Given the description of an element on the screen output the (x, y) to click on. 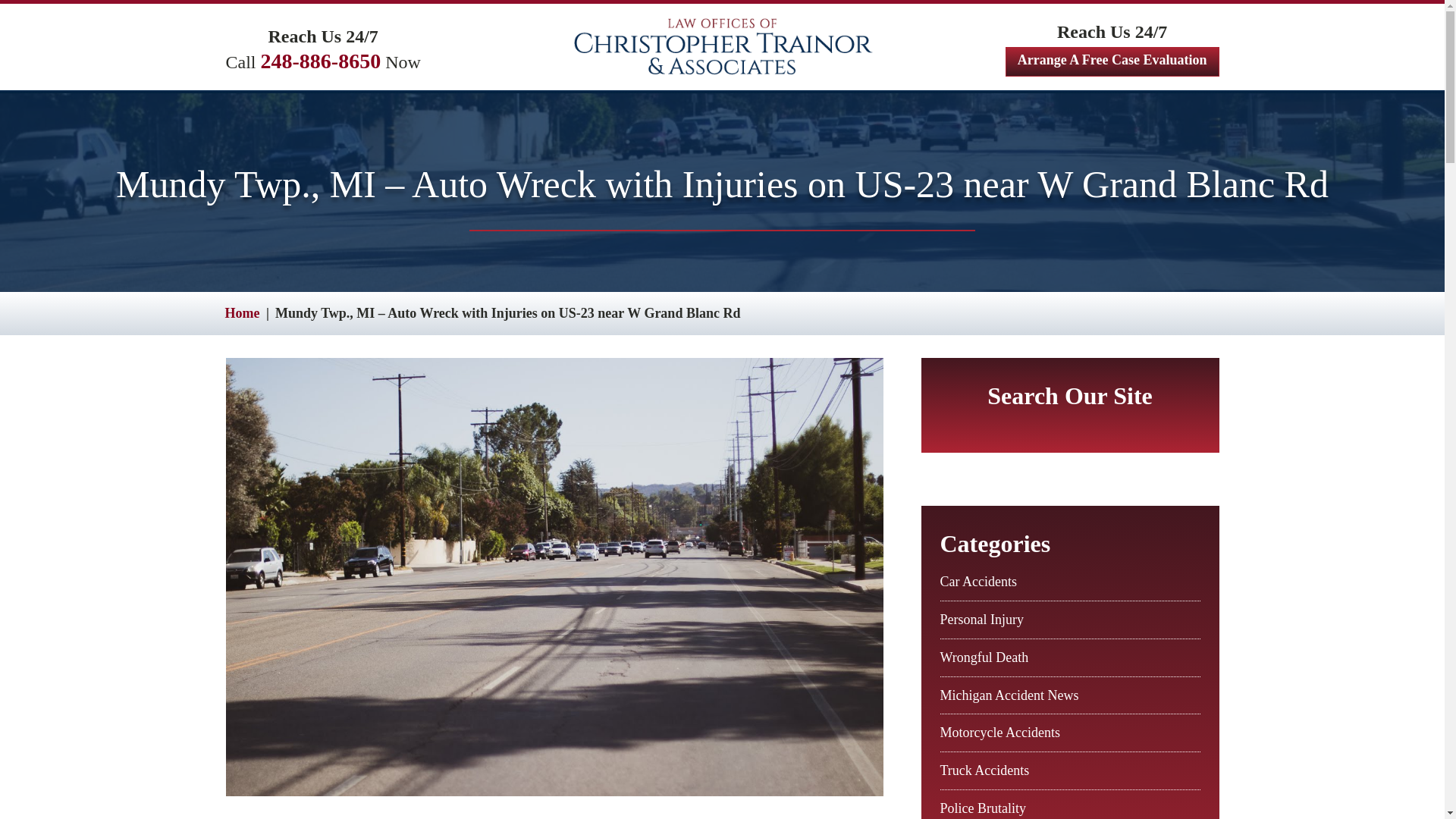
Truck Accidents (984, 770)
Arrange A Free Case Evaluation (1113, 61)
Breadcrumb link to Home (241, 313)
Michigan Accident News (1009, 694)
Home (241, 313)
Car Accidents (978, 581)
Police Brutality (983, 807)
Motorcycle Accidents (999, 732)
Wrongful Death (984, 657)
248-886-8650 (320, 60)
